Given the description of an element on the screen output the (x, y) to click on. 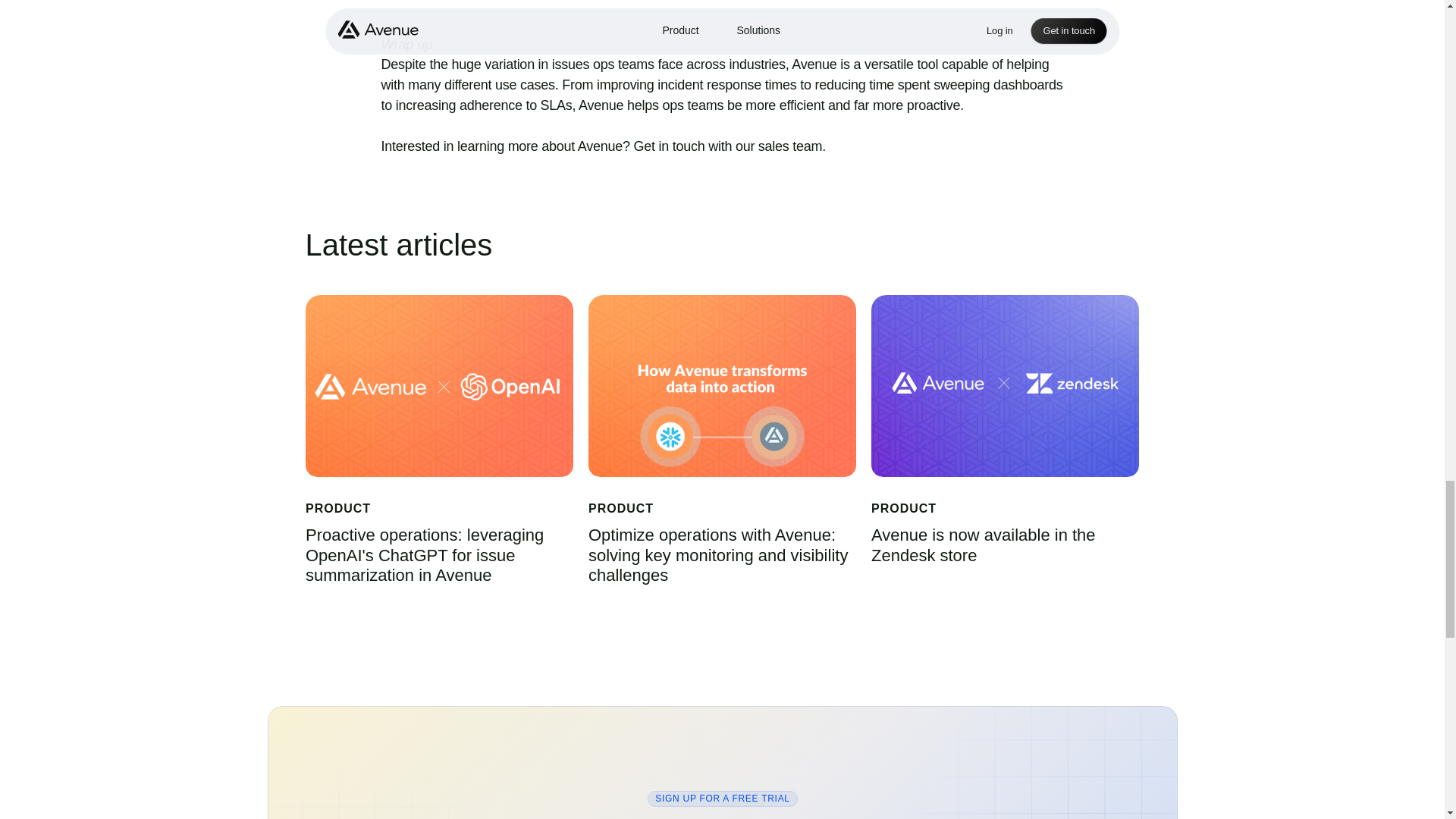
Get in touch with our sales team. (730, 145)
Avenue is now available in the Zendesk store (985, 545)
